Given the description of an element on the screen output the (x, y) to click on. 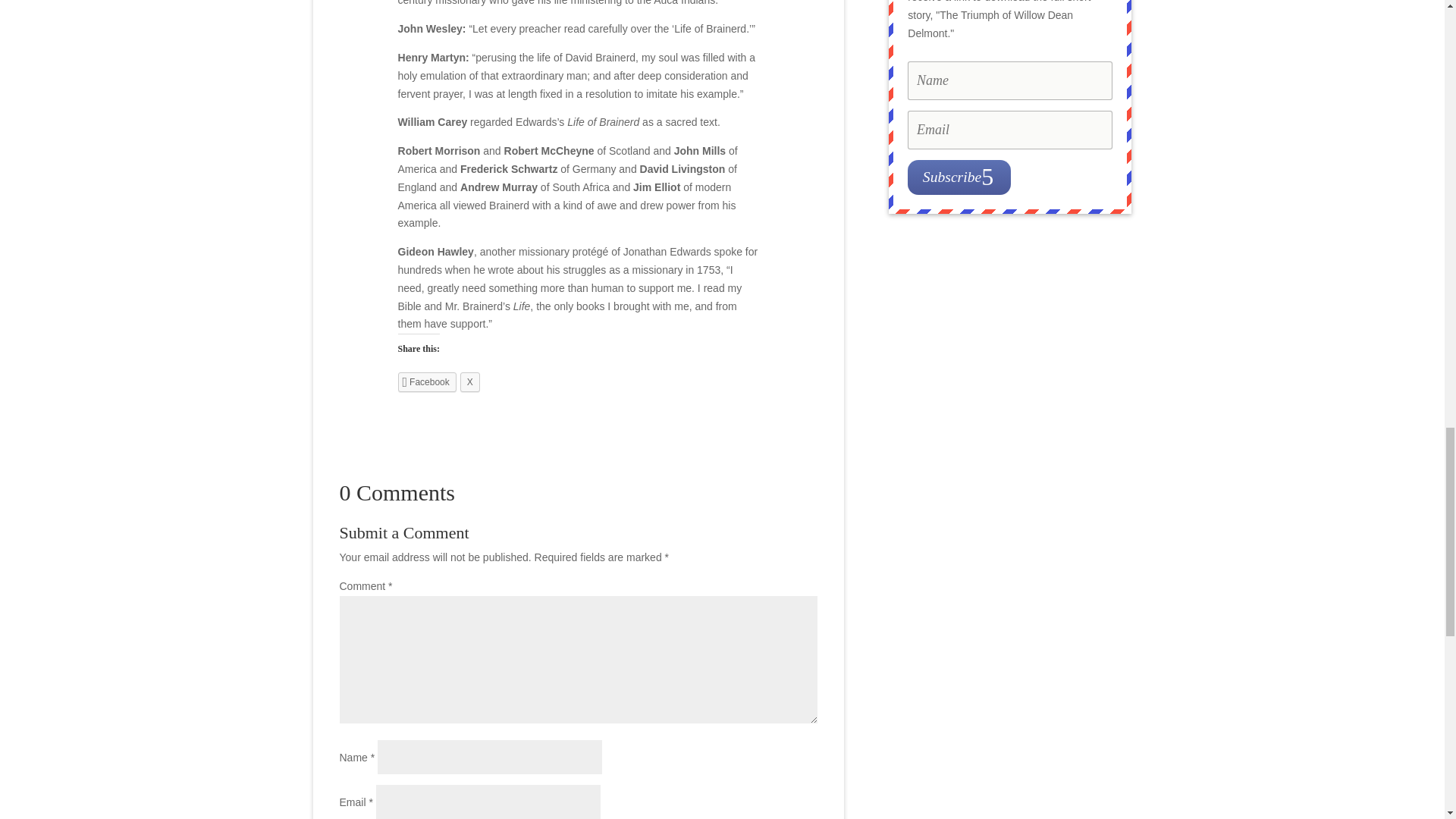
Subscribe (958, 176)
Facebook (427, 381)
X (470, 381)
Click to share on X (470, 381)
Click to share on Facebook (427, 381)
